Given the description of an element on the screen output the (x, y) to click on. 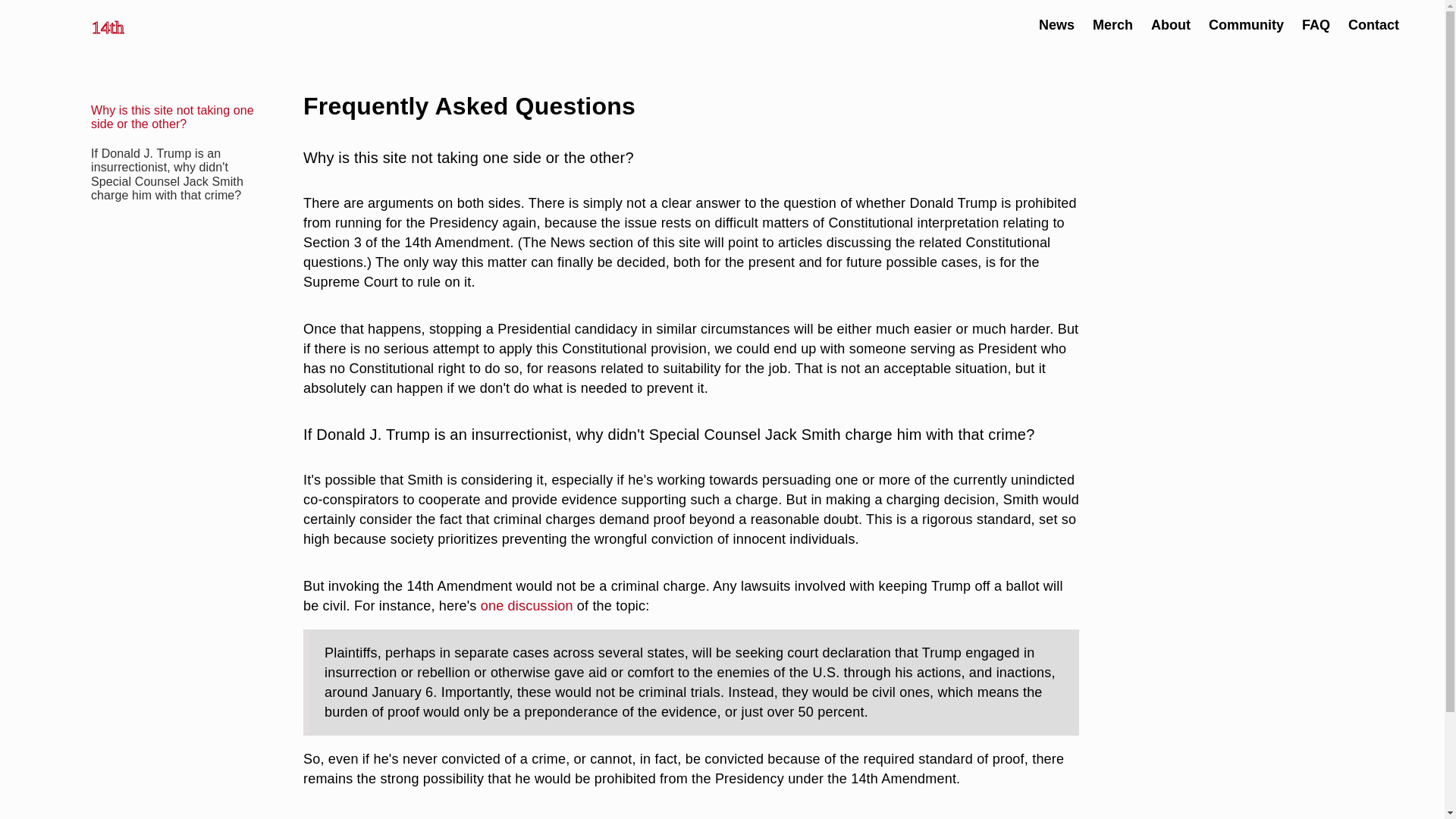
FAQ (1315, 24)
Merch (1112, 24)
About (1171, 24)
one discussion (526, 605)
Contact (1373, 24)
Why is this site not taking one side or the other? (171, 117)
News (1056, 24)
Community (1246, 24)
